Given the description of an element on the screen output the (x, y) to click on. 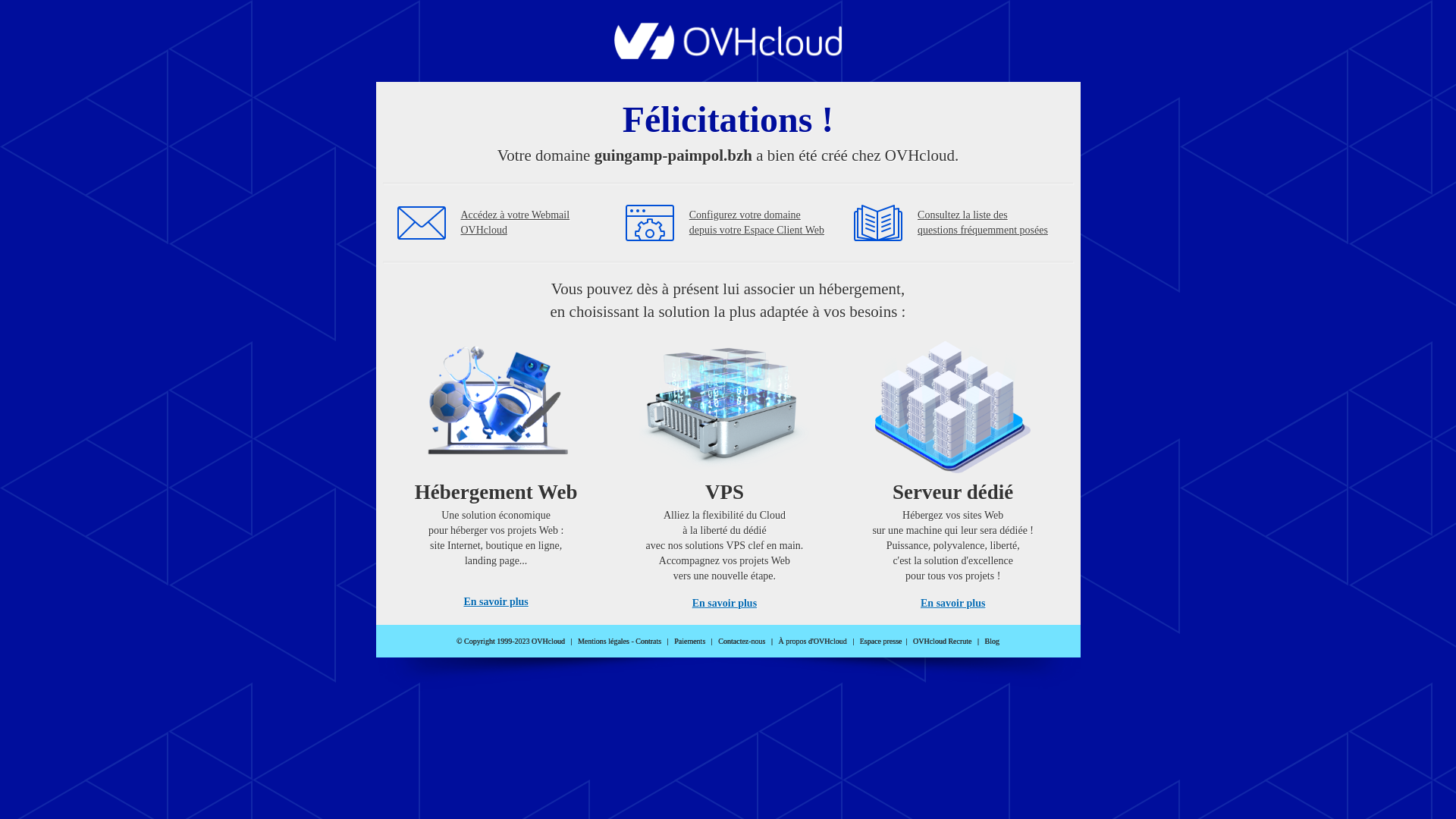
En savoir plus Element type: text (724, 602)
Contactez-nous Element type: text (741, 641)
Espace presse Element type: text (880, 641)
Configurez votre domaine
depuis votre Espace Client Web Element type: text (756, 222)
OVHcloud Element type: hover (727, 54)
Paiements Element type: text (689, 641)
En savoir plus Element type: text (952, 602)
En savoir plus Element type: text (495, 601)
Blog Element type: text (992, 641)
OVHcloud Recrute Element type: text (942, 641)
VPS Element type: hover (724, 469)
